Given the description of an element on the screen output the (x, y) to click on. 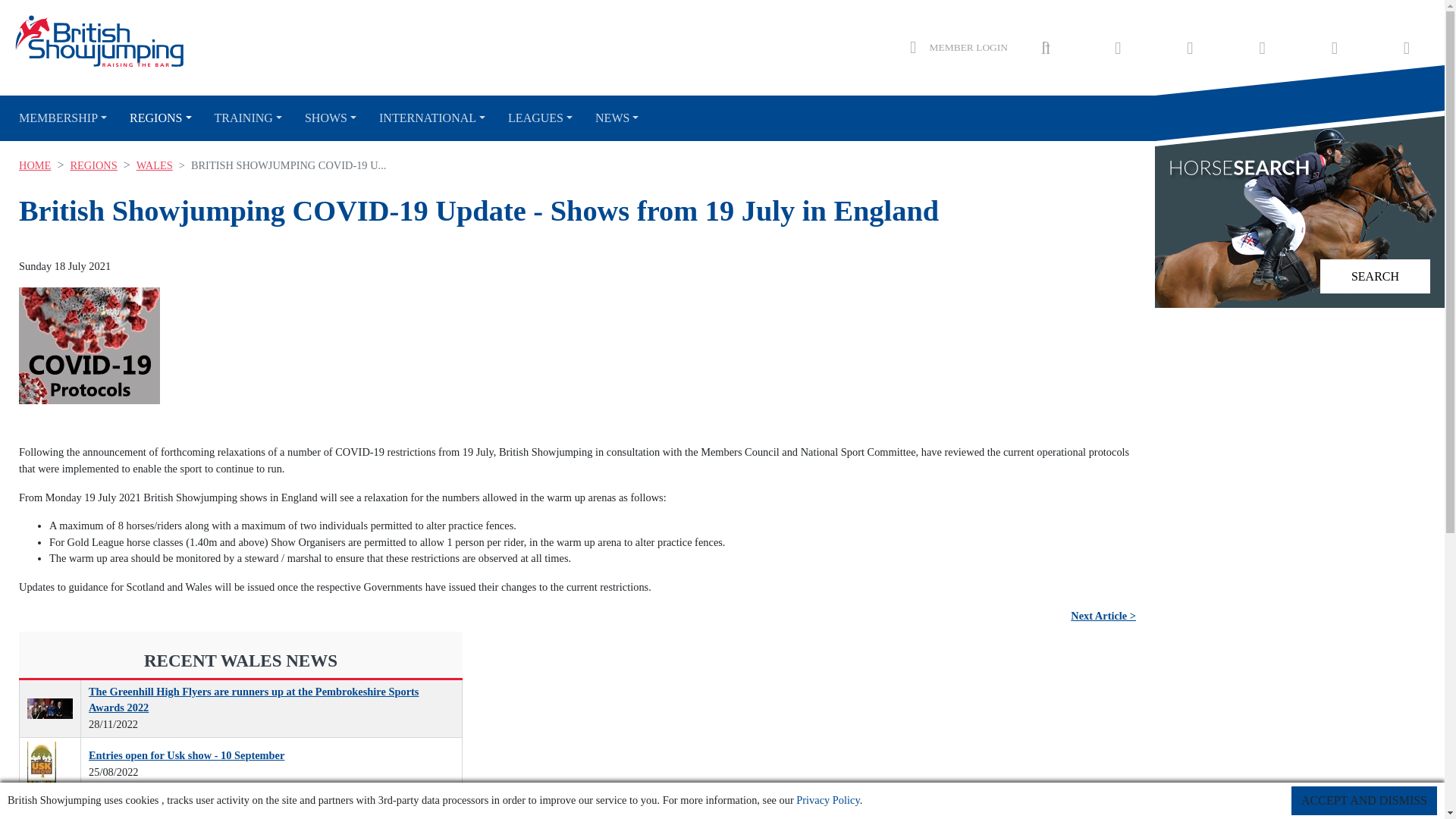
MEMBER LOGIN (958, 47)
ACCEPT AND DISMISS (1364, 800)
Privacy Policy (827, 799)
MEMBERSHIP (63, 117)
REGIONS (156, 117)
Adverse Weather Conditions - Show Updates (49, 808)
